Given the description of an element on the screen output the (x, y) to click on. 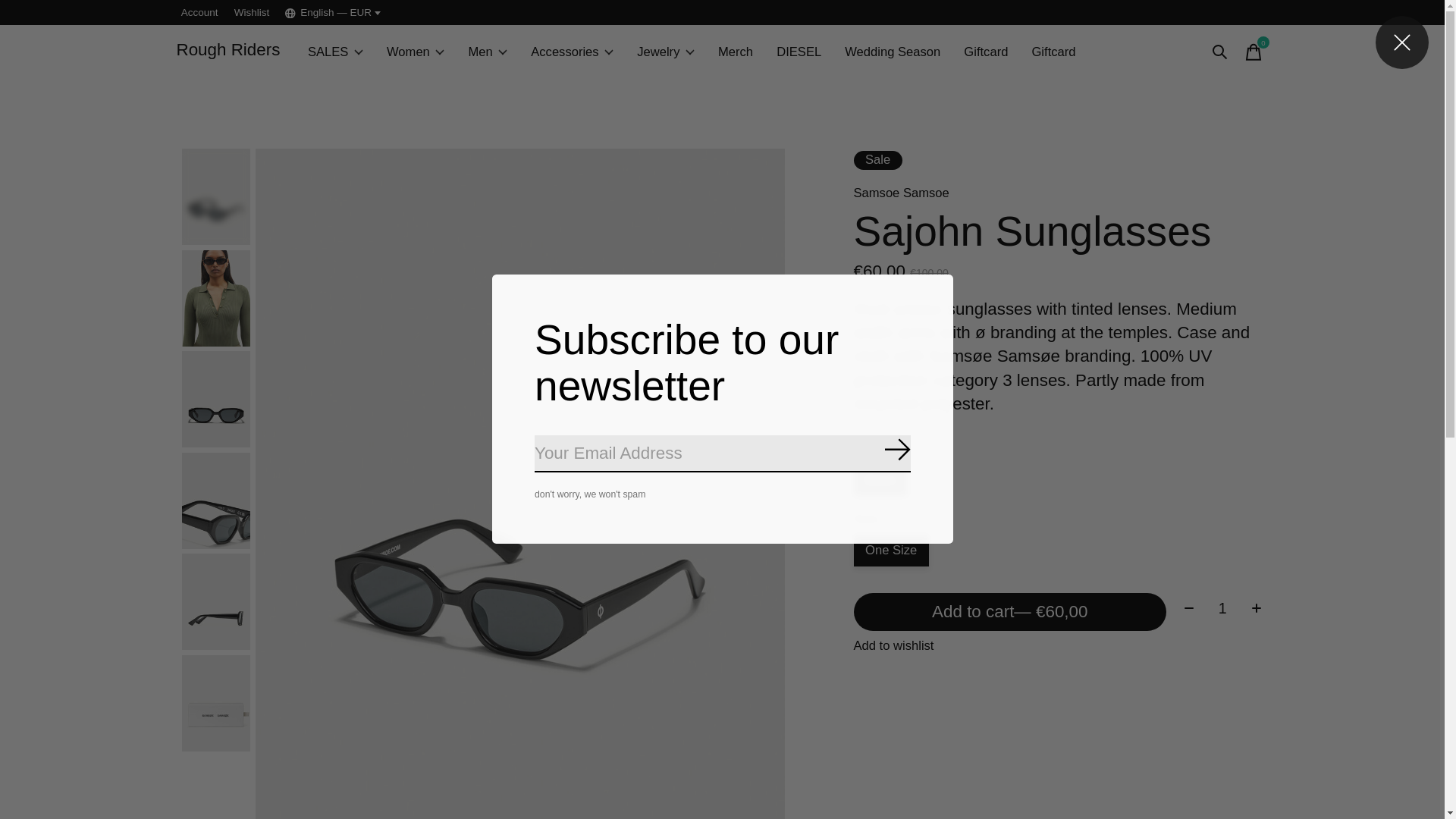
Wishlist (250, 11)
Rough Riders (227, 52)
Women (414, 52)
Account (199, 11)
1 (1222, 608)
SALES (334, 52)
